Given the description of an element on the screen output the (x, y) to click on. 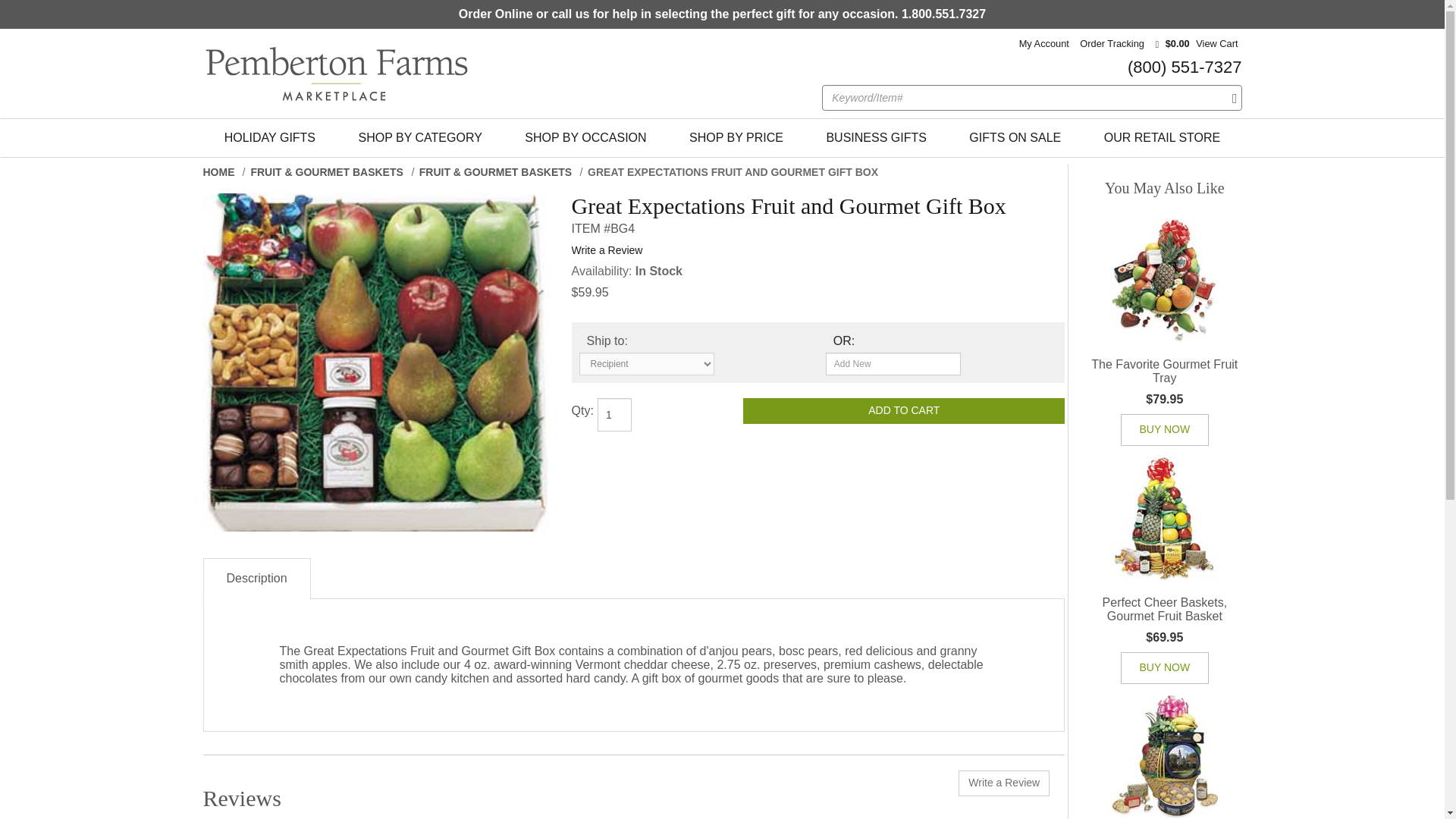
Holiday Gifts (270, 137)
Add to Cart (903, 411)
1 (613, 414)
